Given the description of an element on the screen output the (x, y) to click on. 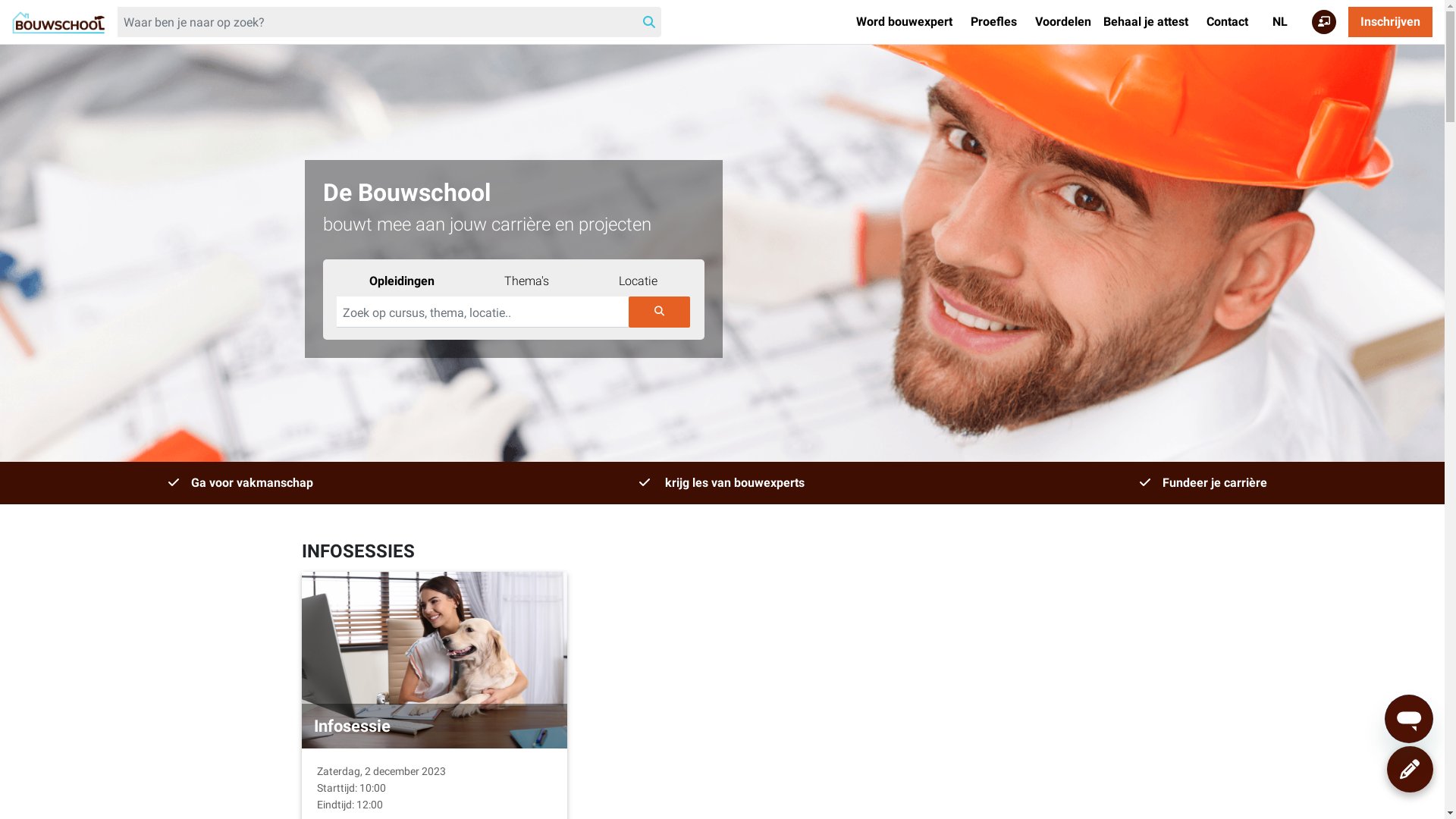
Proefles Element type: text (993, 21)
Voordelen Element type: text (1063, 21)
NL Element type: text (1279, 21)
Word bouwexpert Element type: text (904, 21)
Button to launch messaging window Element type: hover (1408, 718)
Behaal je attest Element type: text (1145, 21)
Inschrijven Element type: text (1390, 21)
Contact Element type: text (1227, 21)
